Given the description of an element on the screen output the (x, y) to click on. 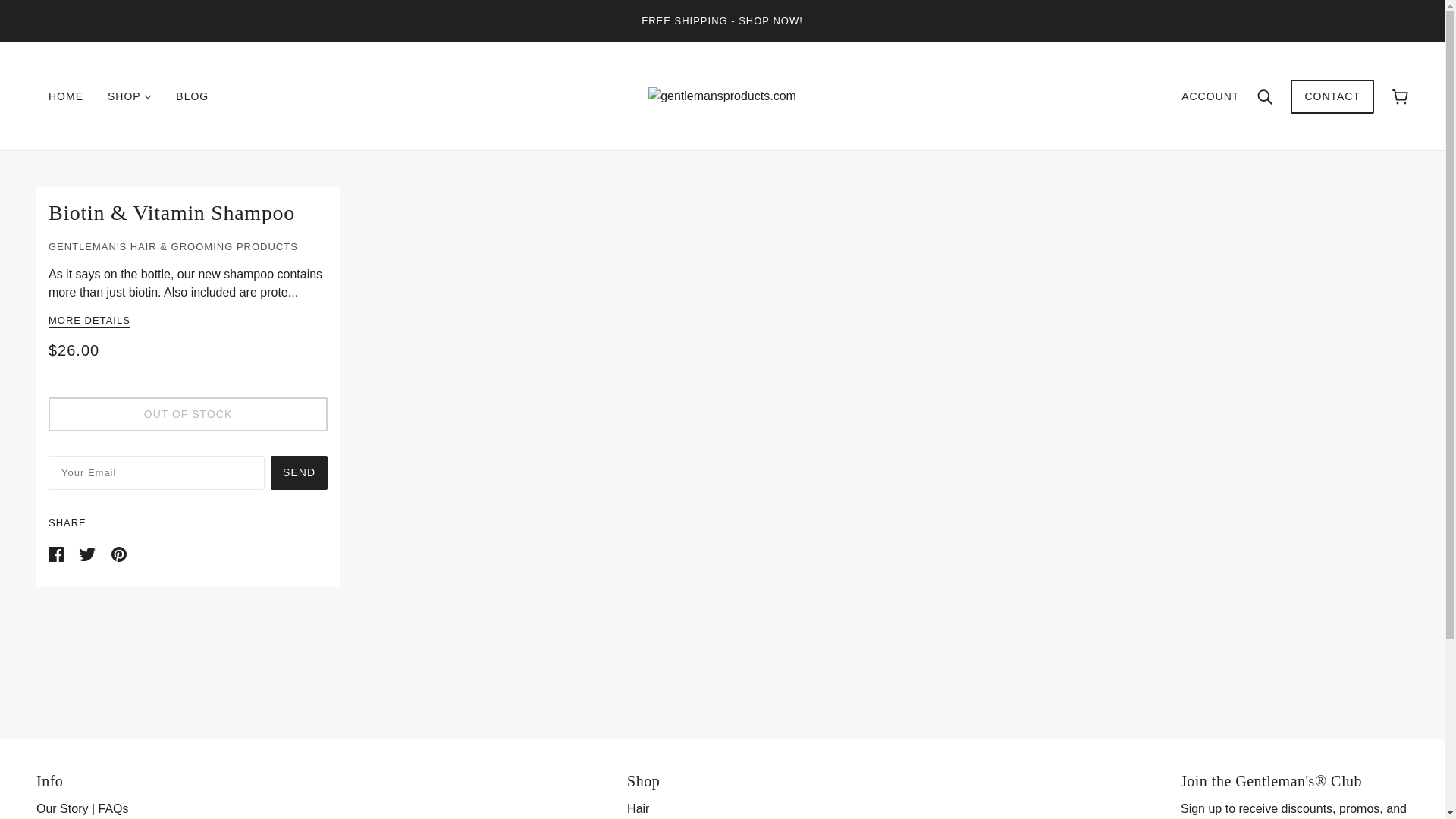
SEND (298, 472)
HOME (66, 96)
SHOP (129, 96)
Our Story (61, 808)
BLOG (192, 96)
MORE DETAILS (89, 321)
Hair (638, 808)
CONTACT (1332, 103)
Hair (638, 808)
OUT OF STOCK (187, 414)
